Given the description of an element on the screen output the (x, y) to click on. 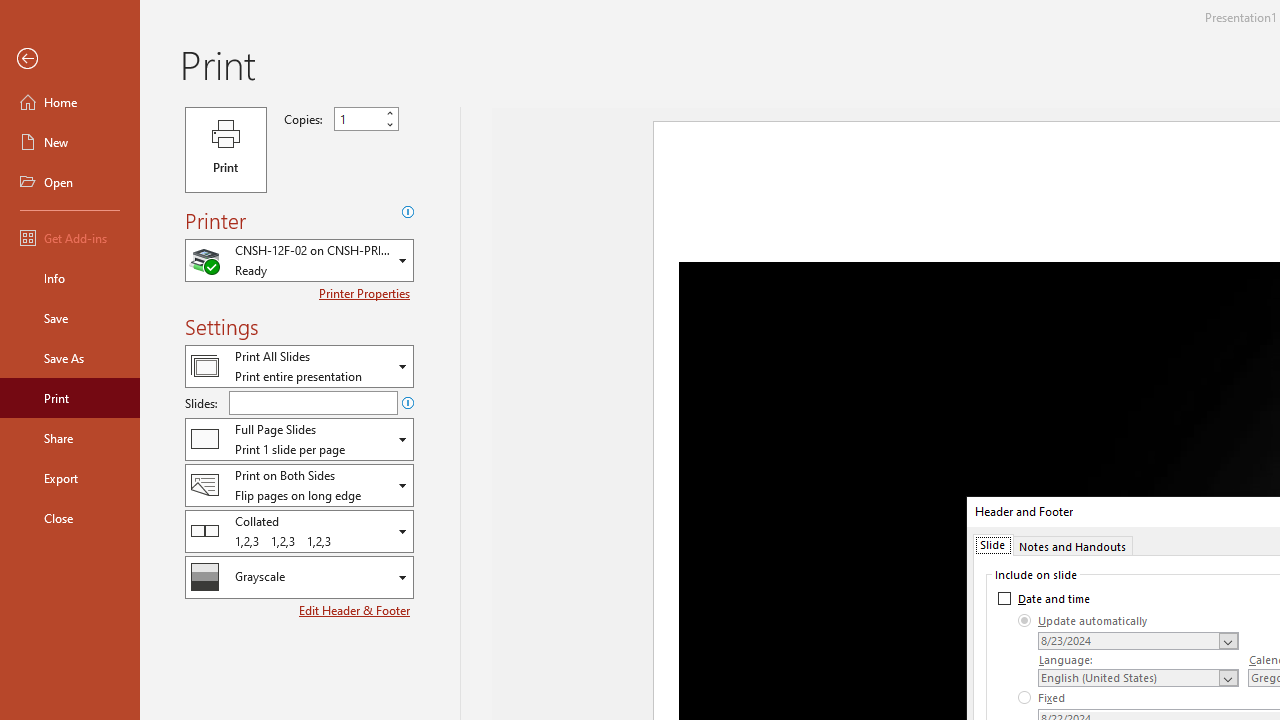
Get Add-ins (69, 237)
Save As (69, 357)
New (69, 141)
Info (69, 277)
Print What (299, 366)
Less (389, 124)
Edit Header & Footer (356, 610)
Copies (358, 119)
Update automatically (1083, 620)
Collation (299, 530)
Export (69, 477)
